Given the description of an element on the screen output the (x, y) to click on. 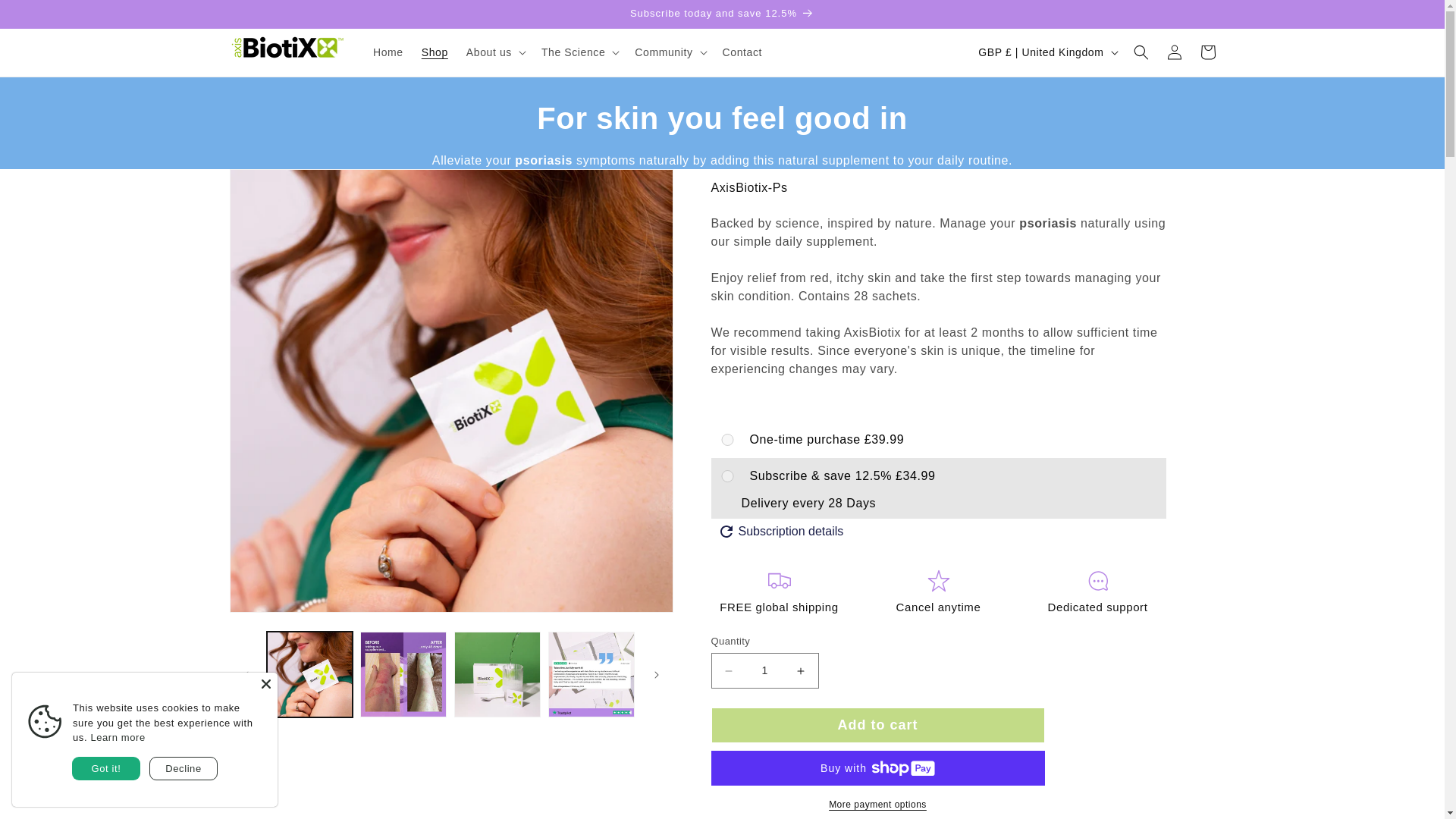
Contact (742, 51)
Home (388, 51)
Shop (434, 51)
subscription (727, 476)
Learn more (117, 737)
1 (764, 670)
Cart (1207, 52)
Log in (1174, 52)
Opens a widget where you can chat to one of our agents (57, 792)
Skip to content (45, 17)
onetime (727, 439)
